Given the description of an element on the screen output the (x, y) to click on. 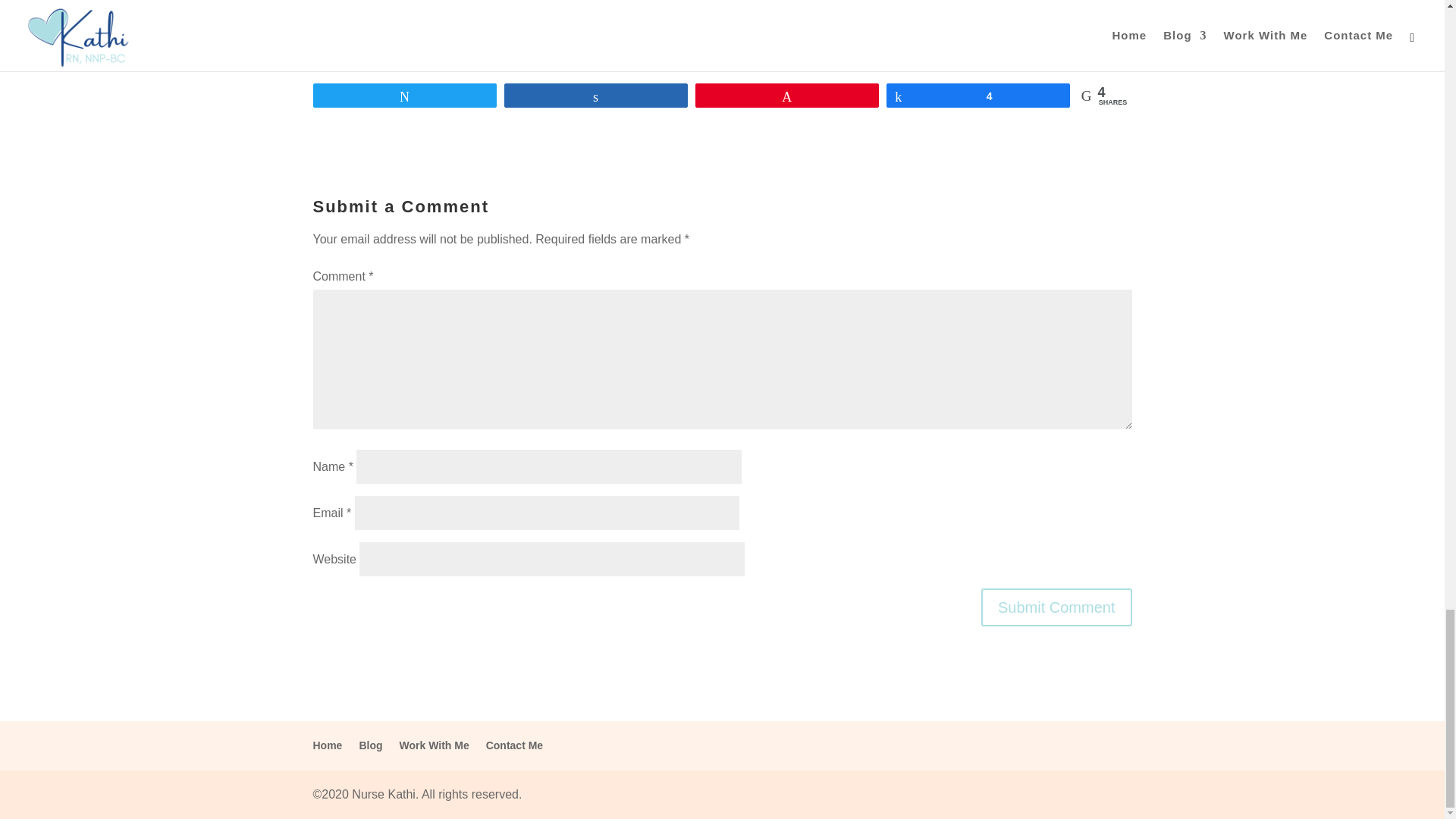
Work With Me (433, 745)
Blog (369, 745)
4 (977, 95)
Contact Me (514, 745)
Submit Comment (1056, 607)
Join the Healthy Wealthy Living Community (721, 28)
Home (327, 745)
Submit Comment (1056, 607)
